Given the description of an element on the screen output the (x, y) to click on. 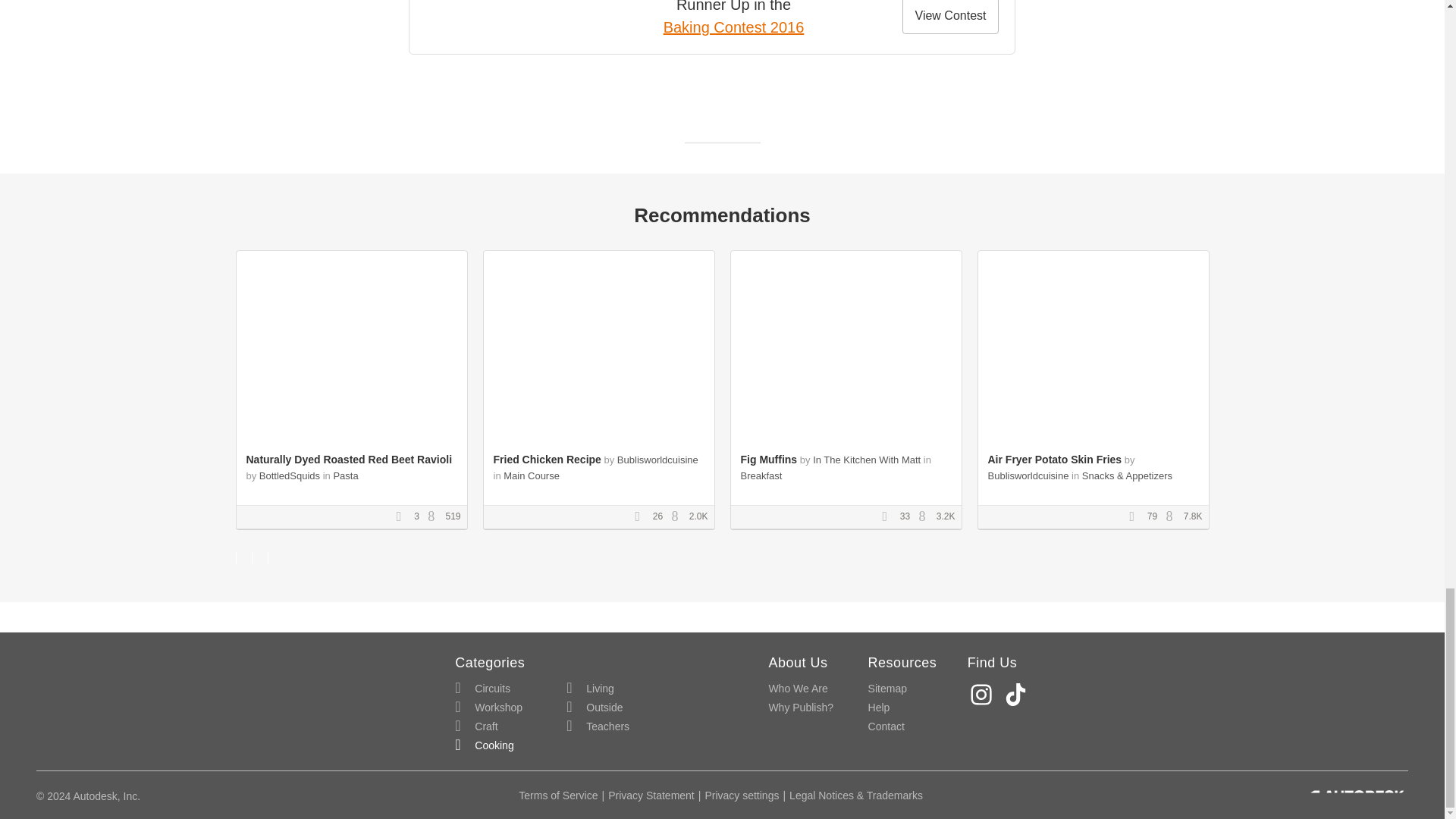
Fig Muffins (767, 459)
Breakfast (760, 475)
Views Count (925, 516)
Favorites Count (889, 516)
Air Fryer Potato Skin Fries (1054, 459)
Main Course (531, 475)
Views Count (435, 516)
Baking Contest 2016 (734, 27)
Pasta (345, 475)
Views Count (1173, 516)
Favorites Count (1136, 516)
Bublisworldcuisine (1027, 475)
View Contest (950, 17)
Favorites Count (641, 516)
BottledSquids (289, 475)
